Given the description of an element on the screen output the (x, y) to click on. 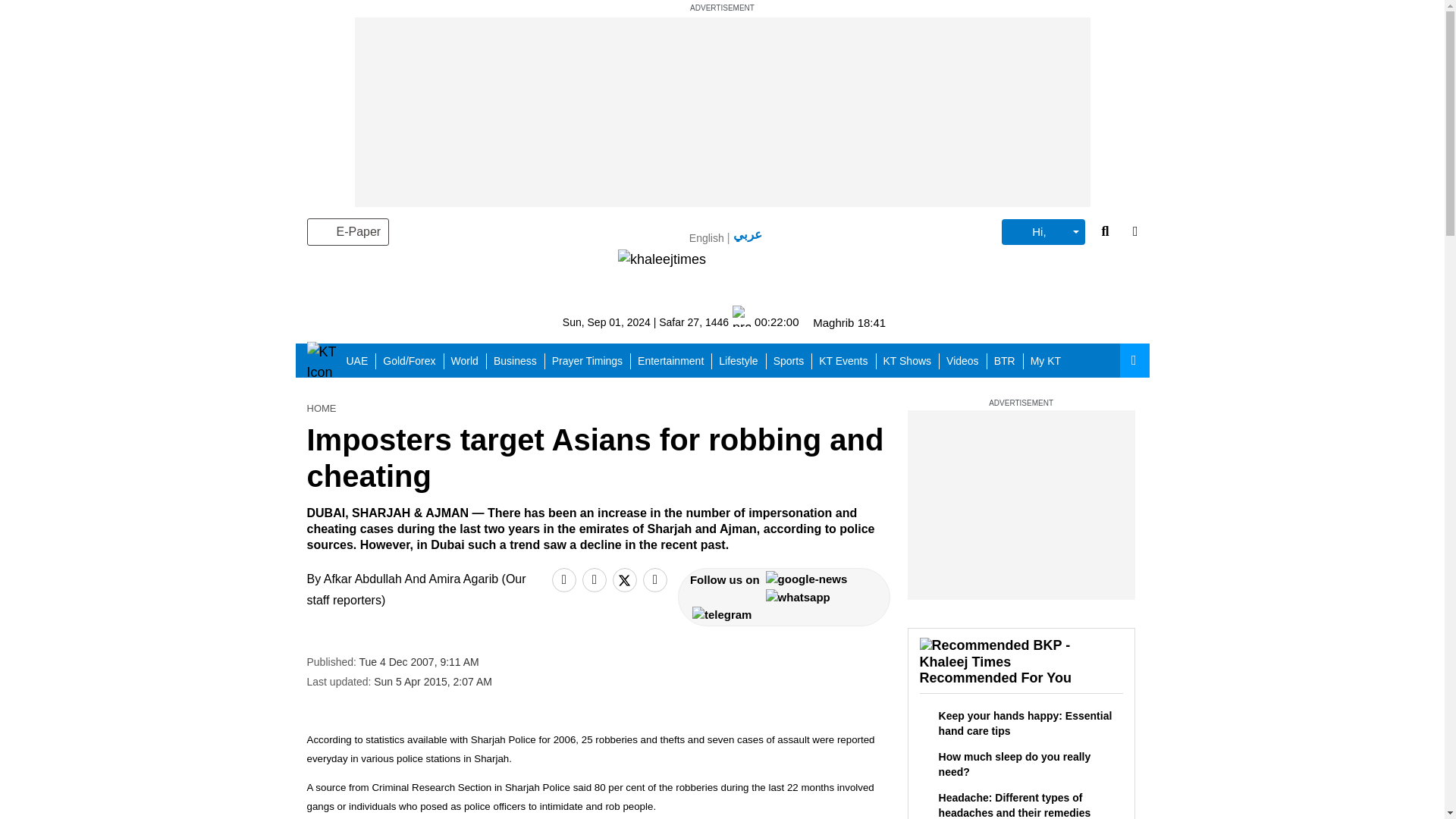
Hi, (1042, 232)
00:22:00 (764, 321)
E-Paper (346, 231)
Maghrib 18:41 (848, 322)
